Given the description of an element on the screen output the (x, y) to click on. 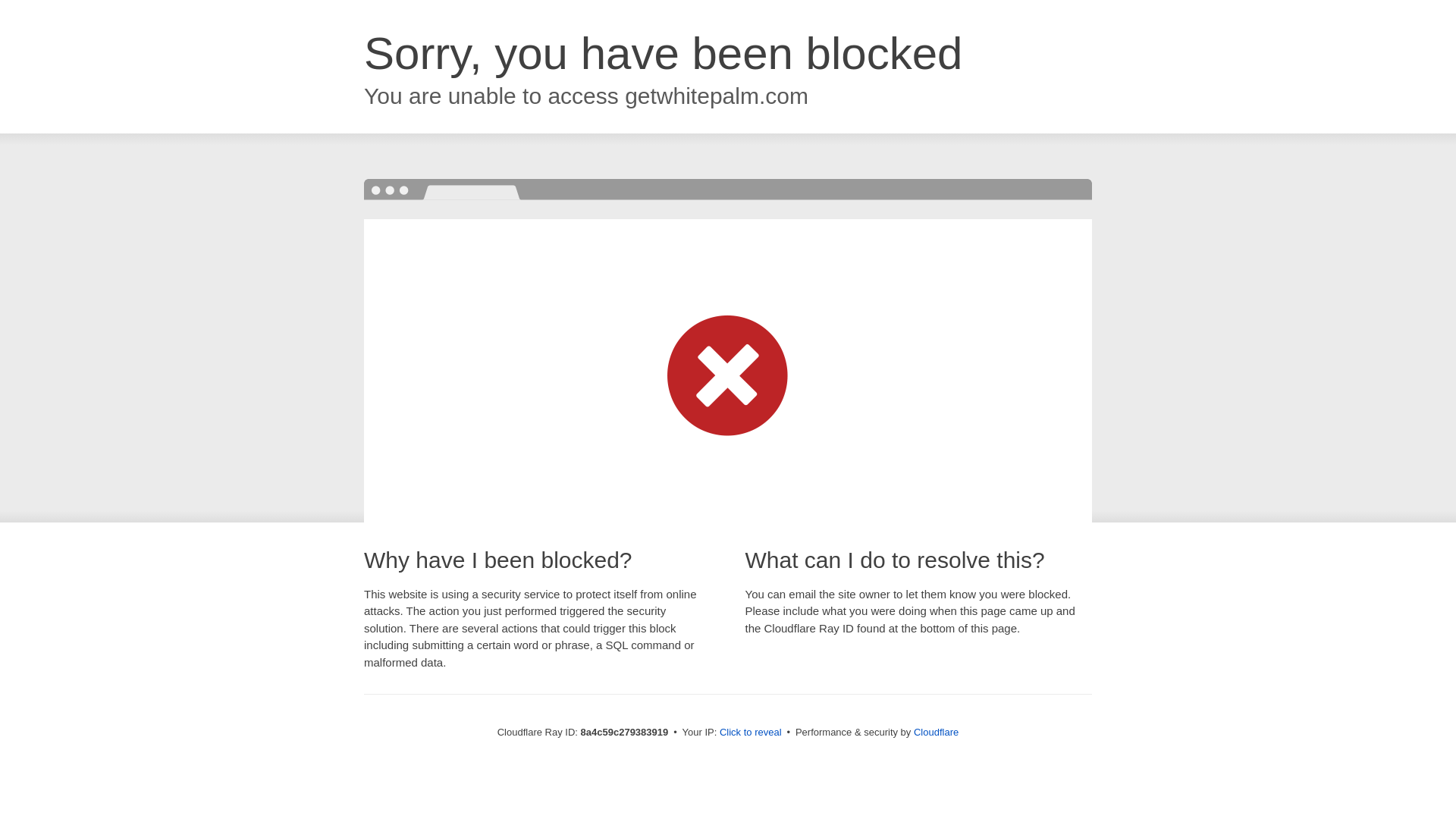
Cloudflare (936, 731)
Click to reveal (750, 732)
